Given the description of an element on the screen output the (x, y) to click on. 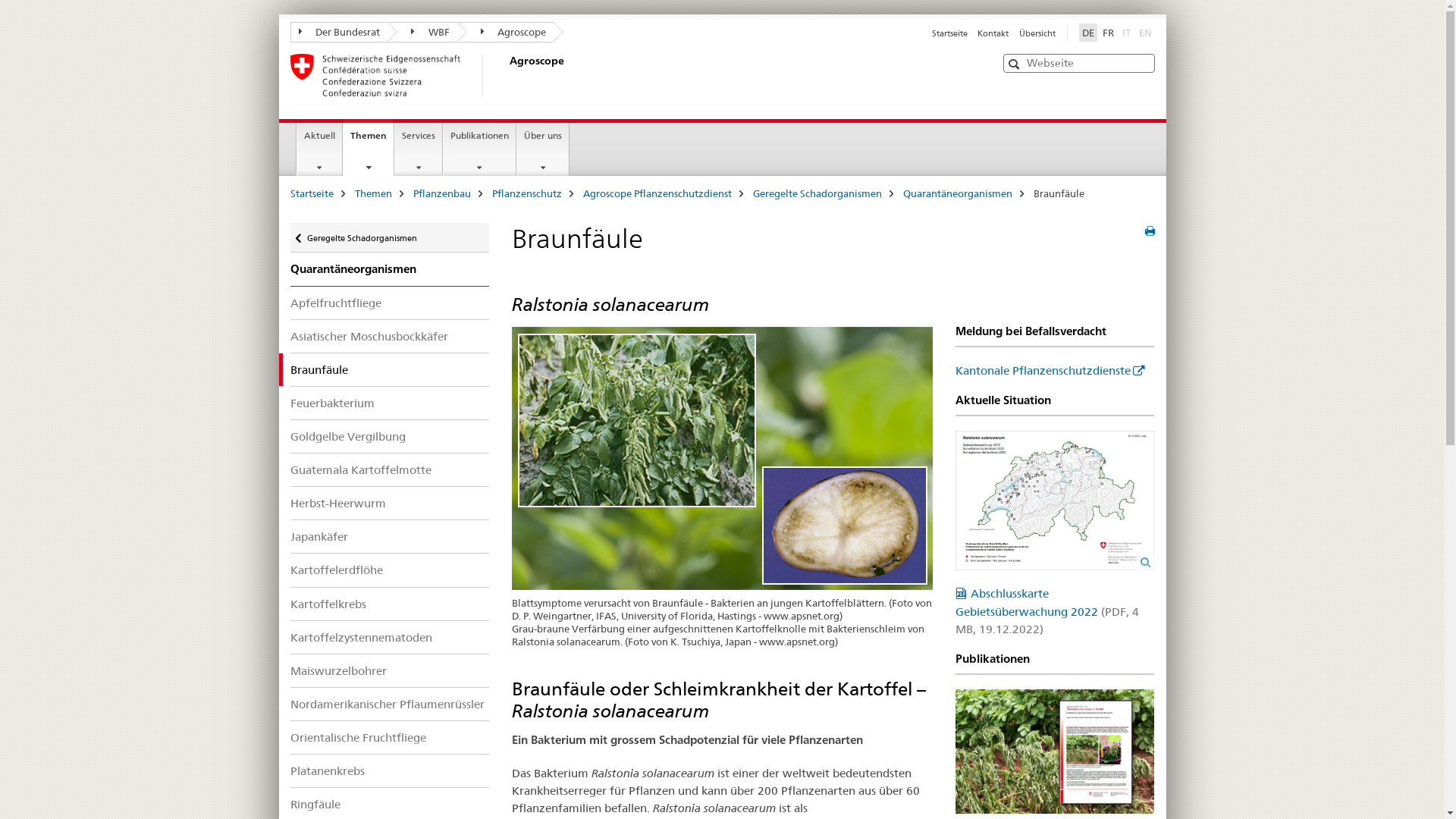
Guatemala Kartoffelmotte Element type: text (389, 469)
EN
disabled Element type: text (1144, 32)
Publikationen Element type: text (479, 148)
WBF Element type: text (422, 31)
Agroscope Pflanzenschutzdienst Element type: text (656, 193)
FR Element type: text (1108, 32)
Orientalische Fruchtfliege Element type: text (389, 737)
Agroscope Element type: text (504, 31)
Kantonale Pflanzenschutzdienste Element type: text (1049, 370)
Kartoffelkrebs Element type: text (389, 603)
Apfelfruchtfliege Element type: text (389, 302)
Services Element type: text (418, 148)
Startseite Element type: text (949, 33)
Aktuell Element type: text (319, 148)
Maiswurzelbohrer Element type: text (389, 670)
Themen
current page Element type: text (368, 147)
IT
disabled Element type: text (1126, 32)
Geregelte Schadorganismen Element type: text (816, 193)
Seite drucken Element type: hover (1149, 230)
Feuerbakterium Element type: text (389, 402)
Platanenkrebs Element type: text (389, 770)
Pflanzenbau Element type: text (441, 193)
Kontakt Element type: text (992, 33)
Startseite Element type: text (310, 193)
Themen Element type: text (373, 193)
Goldgelbe Vergilbung Element type: text (389, 436)
Kartoffelzystennematoden Element type: text (389, 637)
Agroscope Element type: text (505, 74)
Herbst-Heerwurm Element type: text (389, 502)
Pflanzenschutz Element type: text (526, 193)
Der Bundesrat Element type: text (338, 31)
DE Element type: text (1087, 32)
